Given the description of an element on the screen output the (x, y) to click on. 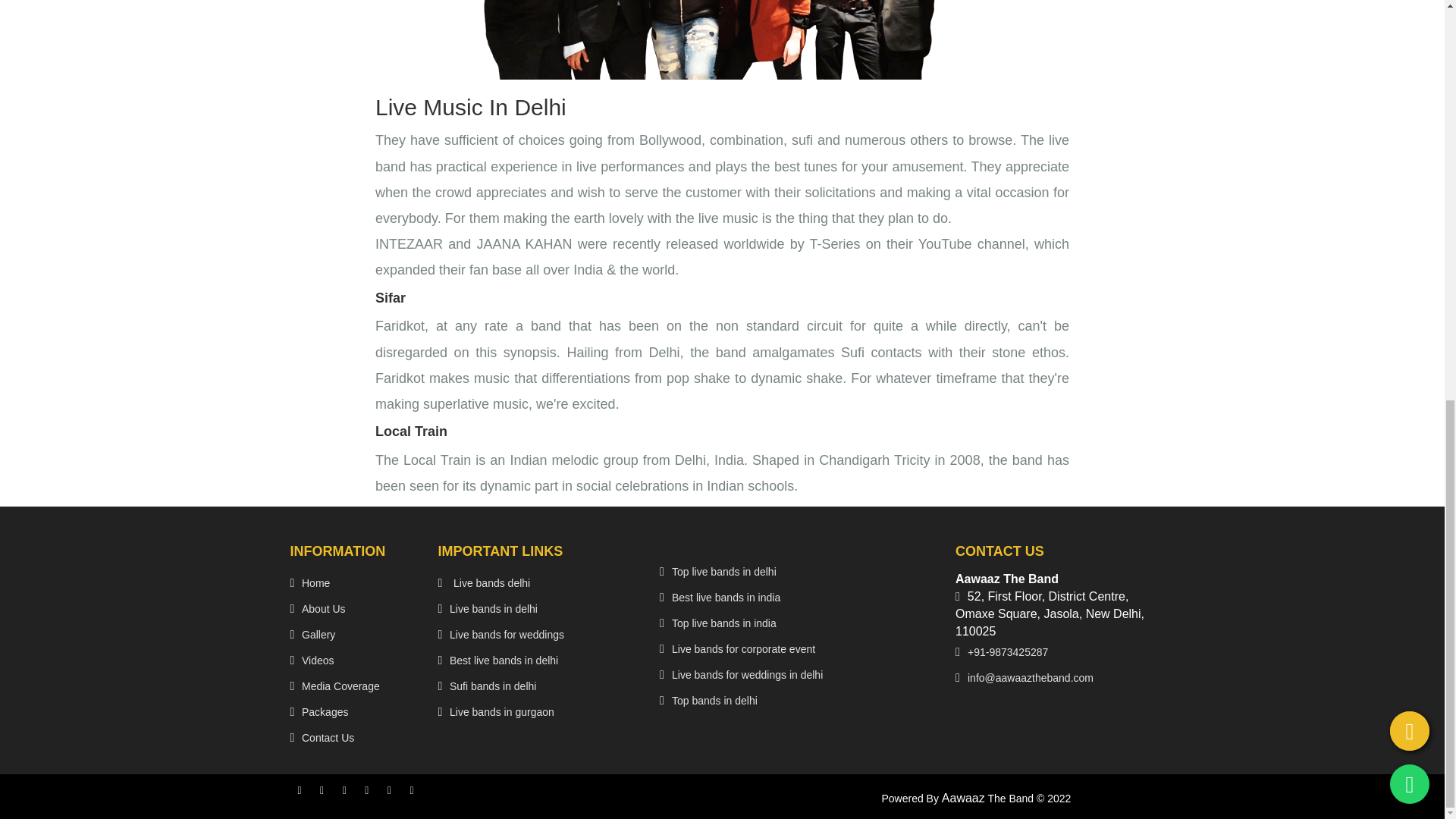
Top live bands in india (723, 623)
Best live bands in delhi (503, 661)
Sufi bands in delhi (492, 687)
Live bands for weddings (506, 635)
Live bands for weddings in delhi (746, 675)
About Us (323, 609)
Live bands in delhi (493, 609)
Packages (324, 712)
Live bands in gurgaon (501, 712)
Best live bands in india (725, 597)
